Given the description of an element on the screen output the (x, y) to click on. 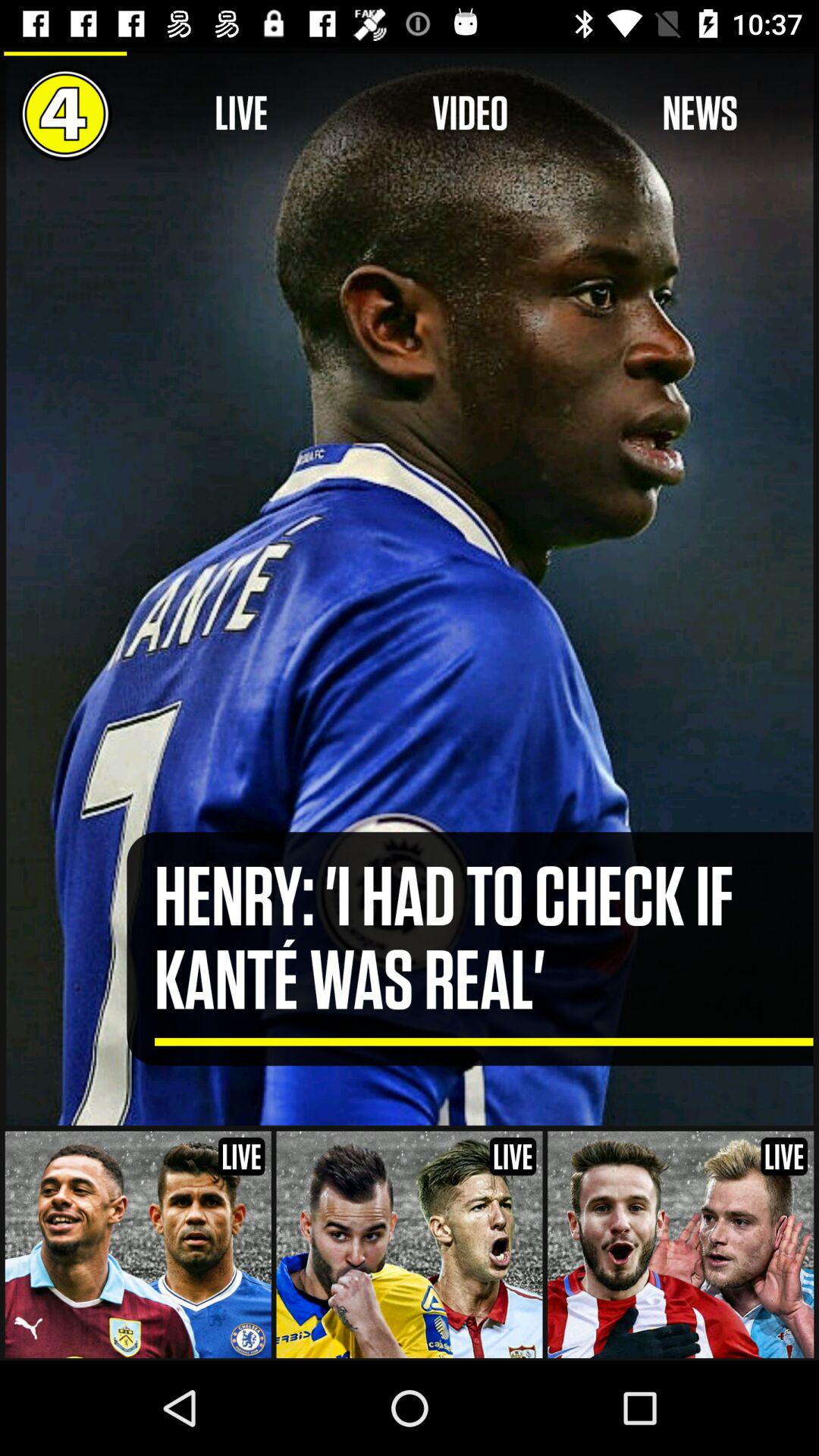
select the news (700, 113)
